Given the description of an element on the screen output the (x, y) to click on. 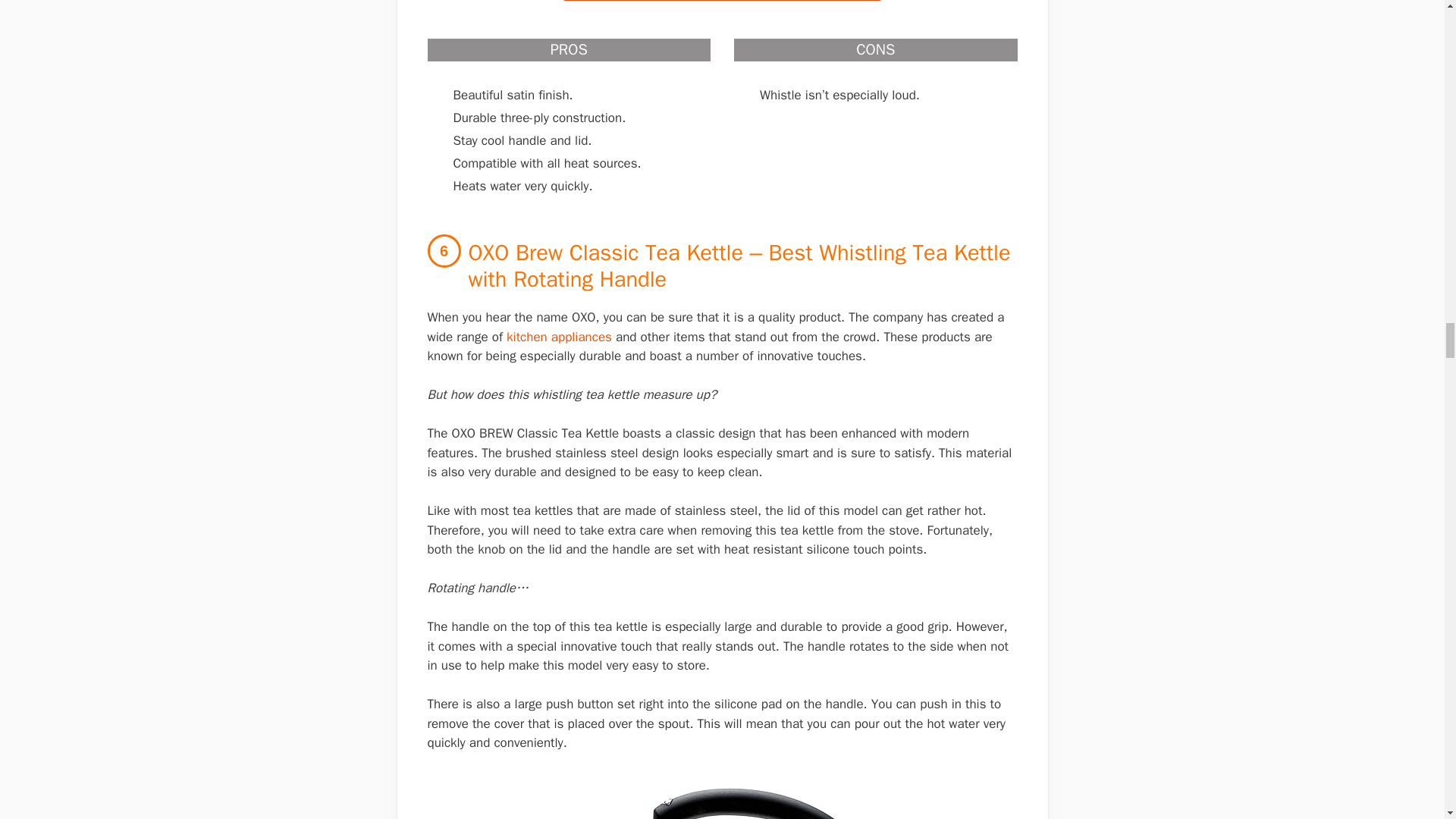
kitchen appliances (558, 336)
